Given the description of an element on the screen output the (x, y) to click on. 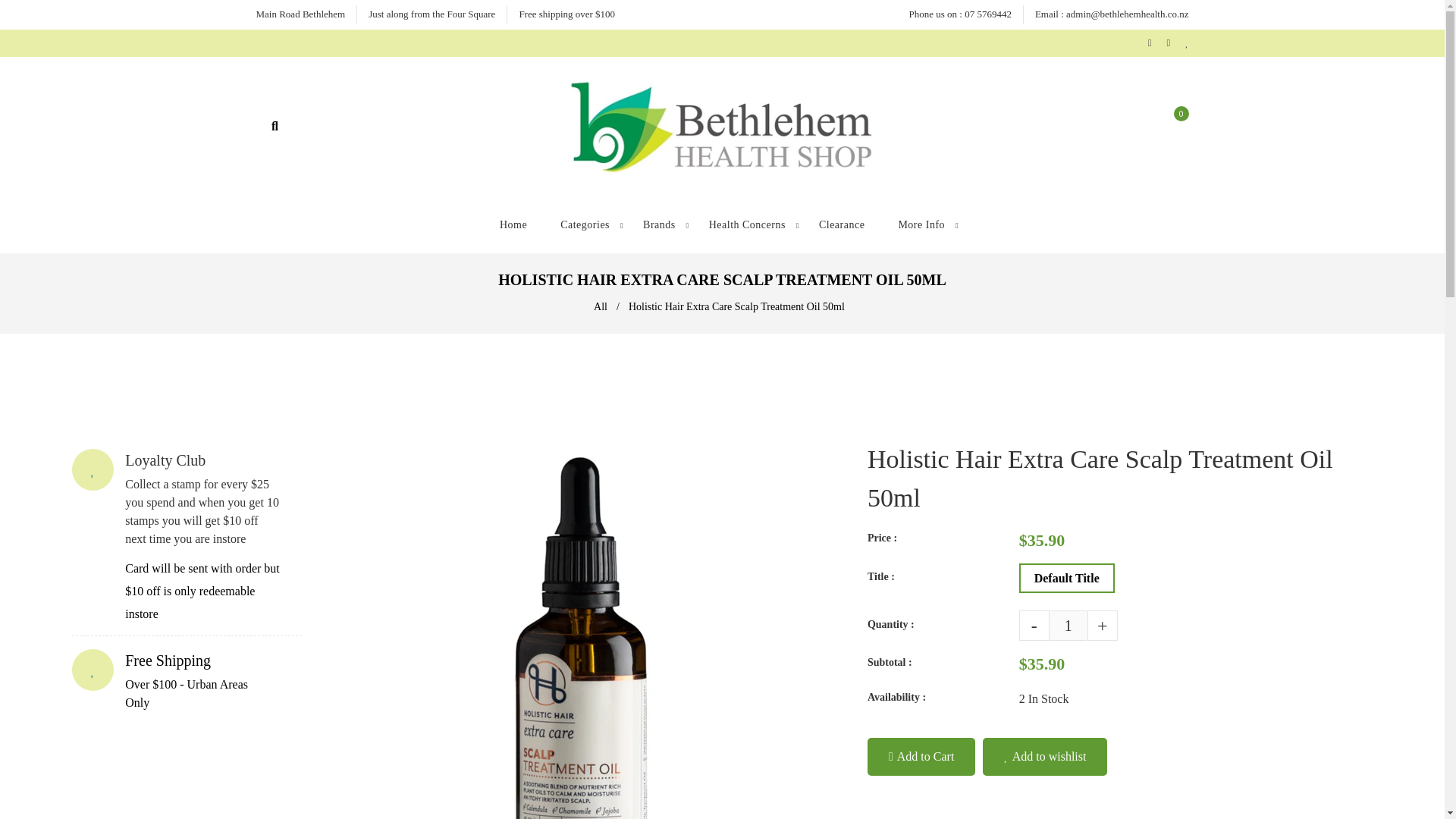
Categories (584, 225)
1 (1068, 625)
Add to wishlist (1044, 756)
Create account (1171, 42)
0 (1173, 126)
Log in (1153, 42)
Home (512, 225)
